Given the description of an element on the screen output the (x, y) to click on. 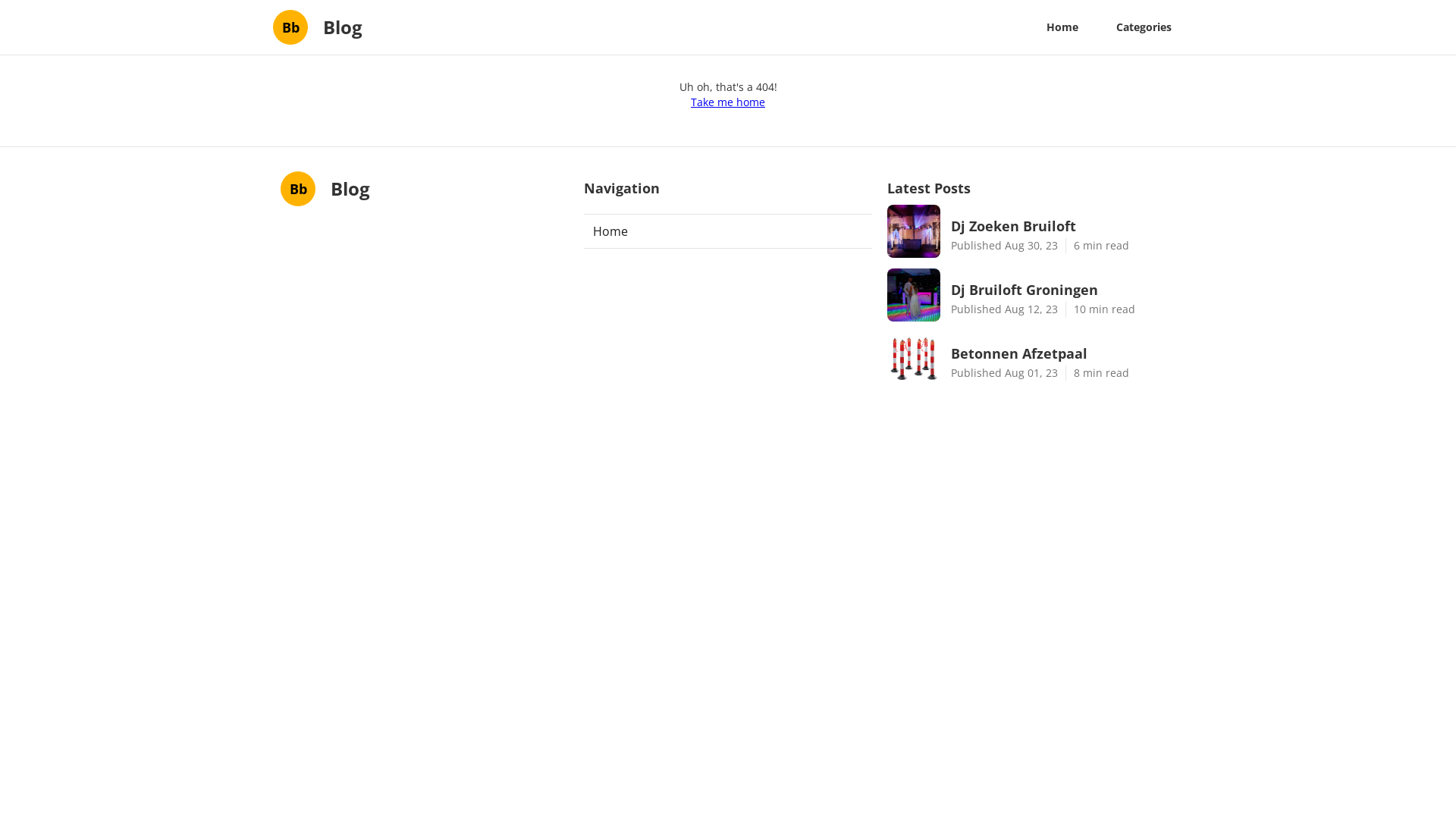
Dj Zoeken Bruiloft Element type: text (1062, 225)
Categories Element type: text (1143, 26)
Take me home Element type: text (727, 101)
Dj Bruiloft Groningen Element type: text (1062, 289)
Home Element type: text (727, 230)
Betonnen Afzetpaal Element type: text (1062, 353)
Home Element type: text (1062, 26)
